Given the description of an element on the screen output the (x, y) to click on. 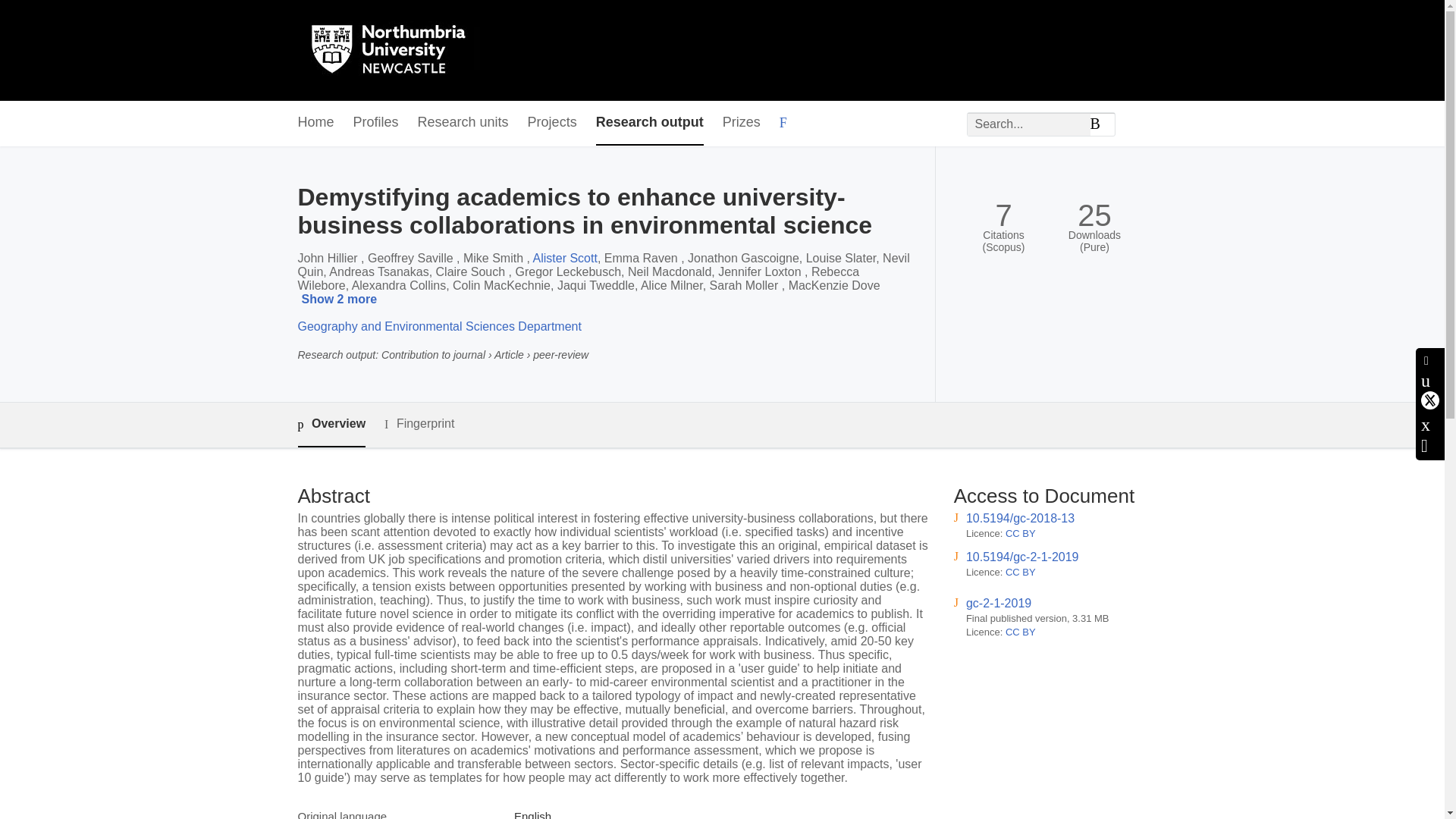
Research units (462, 122)
Alister Scott (564, 257)
CC BY (1020, 532)
Geography and Environmental Sciences Department (438, 326)
CC BY (1020, 572)
CC BY (1020, 632)
Northumbria University Research Portal Home (398, 50)
Research output (649, 122)
Overview (331, 424)
Fingerprint (419, 423)
Show 2 more (341, 299)
Profiles (375, 122)
gc-2-1-2019 (998, 603)
Projects (551, 122)
